Given the description of an element on the screen output the (x, y) to click on. 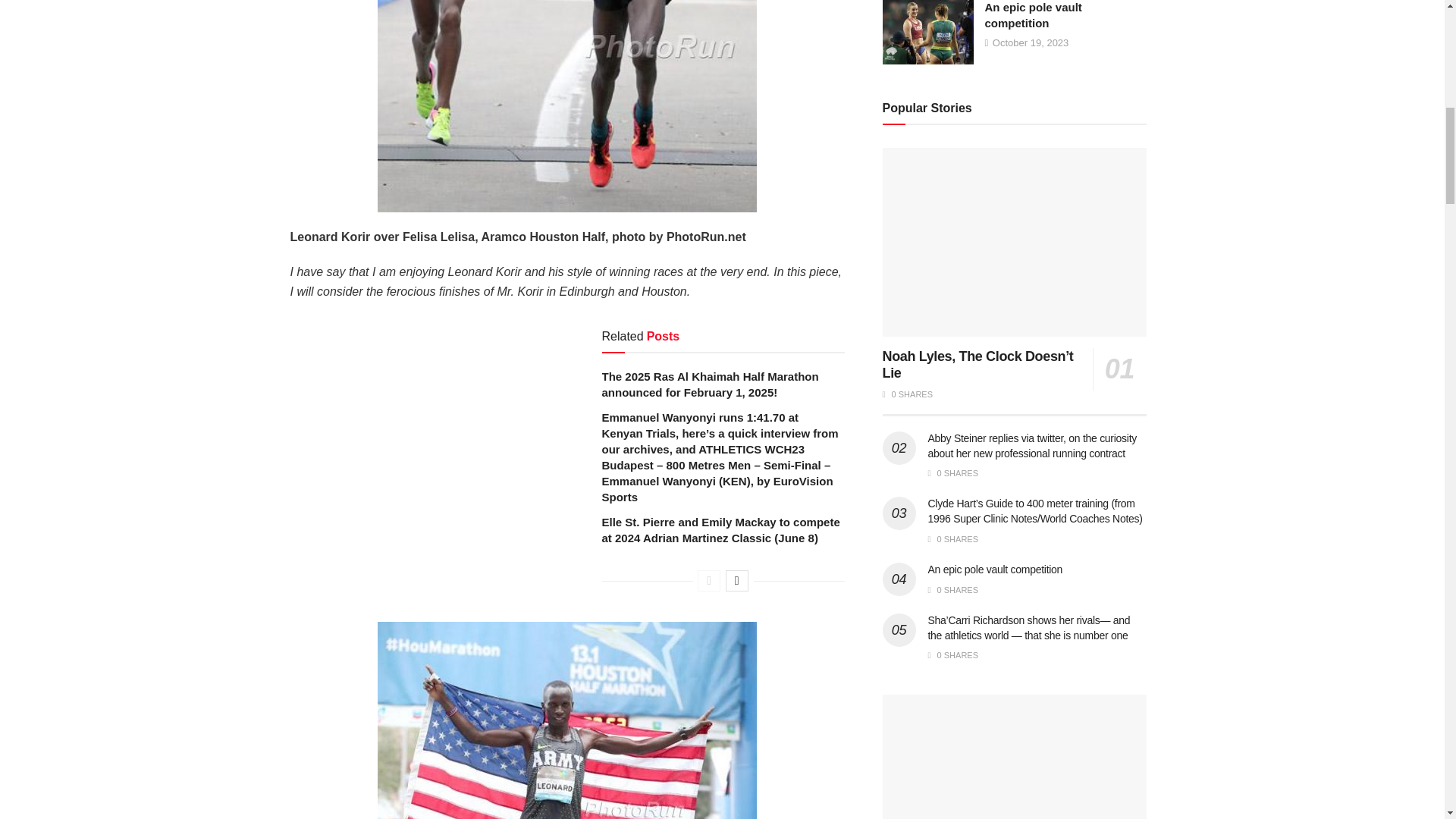
Previous (708, 580)
Next (736, 580)
